Given the description of an element on the screen output the (x, y) to click on. 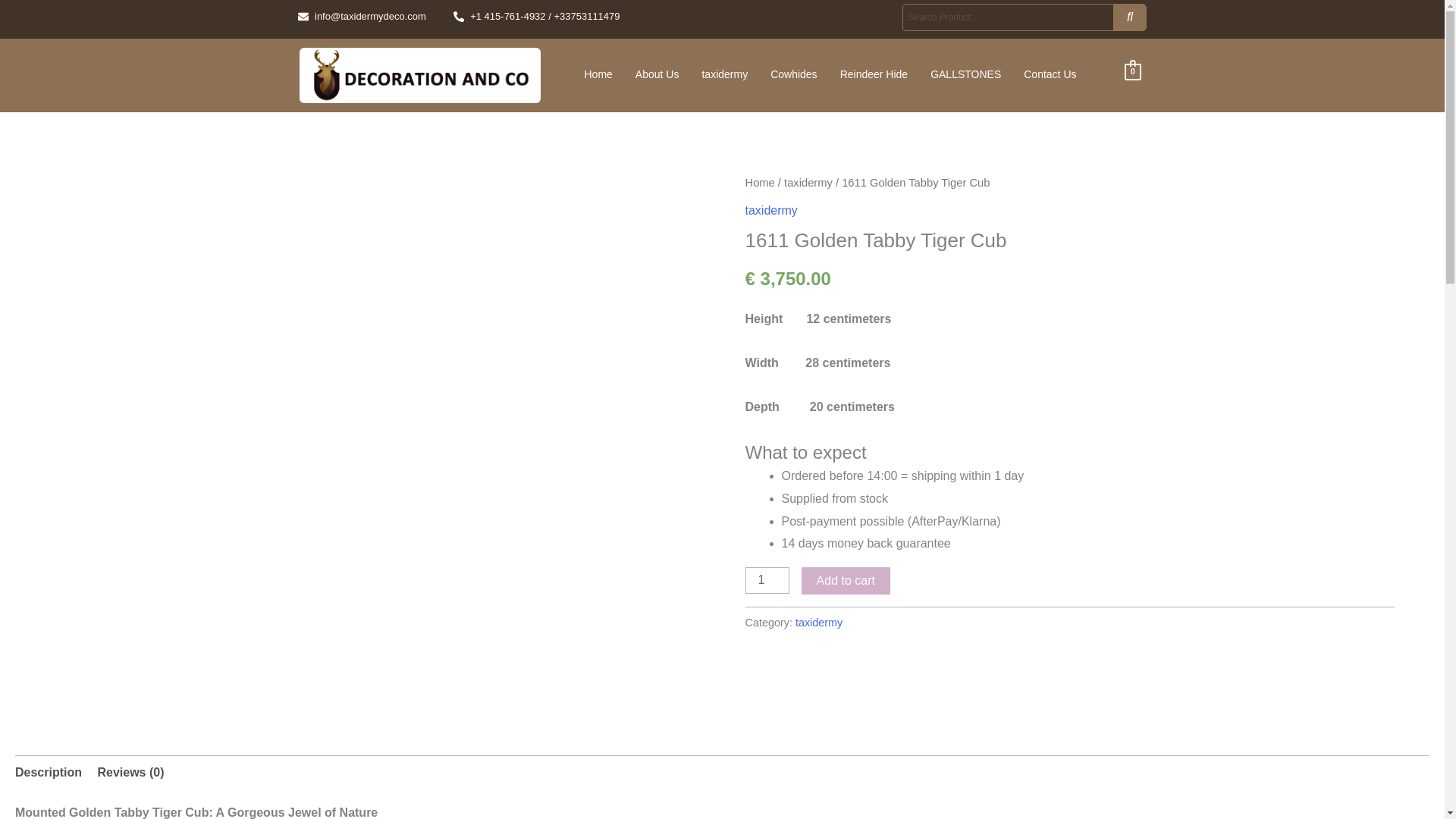
Search (1007, 17)
Cowhides (793, 74)
1 (766, 580)
Contact Us (1049, 74)
Add to cart (845, 580)
taxidermy (818, 622)
Home (598, 74)
Description (47, 772)
View your shopping cart (1132, 71)
About Us (657, 74)
